Given the description of an element on the screen output the (x, y) to click on. 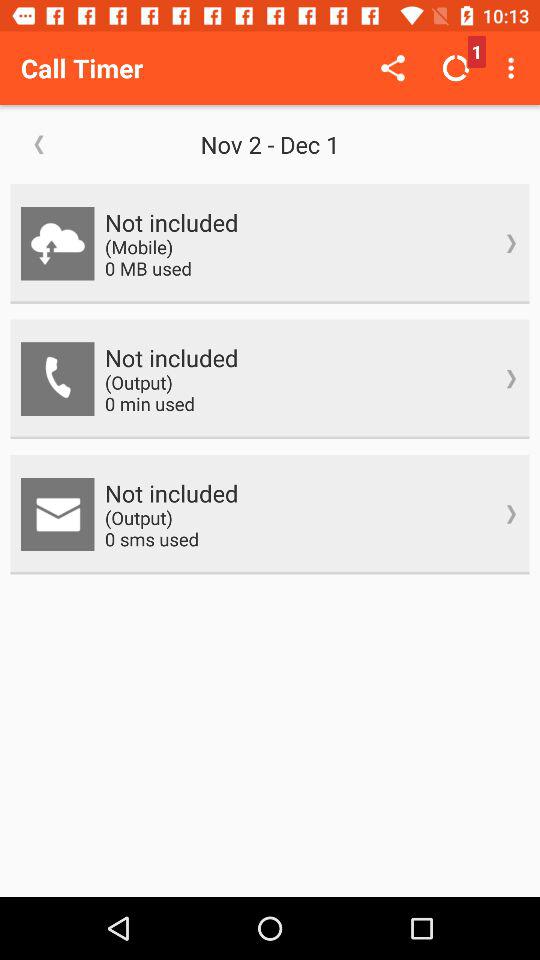
tap the item above not included mobile icon (513, 67)
